Given the description of an element on the screen output the (x, y) to click on. 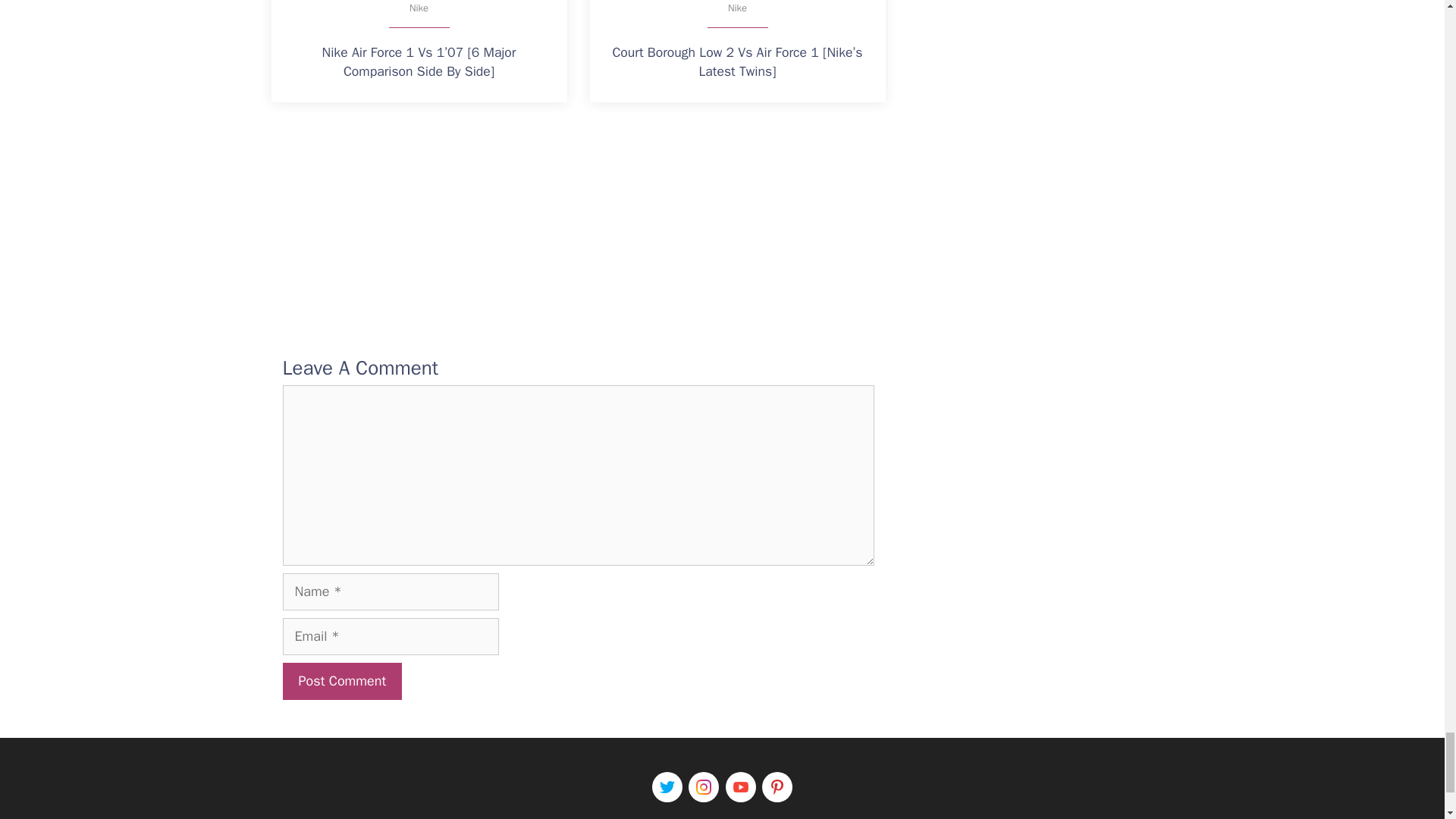
Youtube (740, 787)
Instagram (703, 787)
Pinterest (776, 787)
Twitter (667, 787)
Post Comment (341, 681)
